Given the description of an element on the screen output the (x, y) to click on. 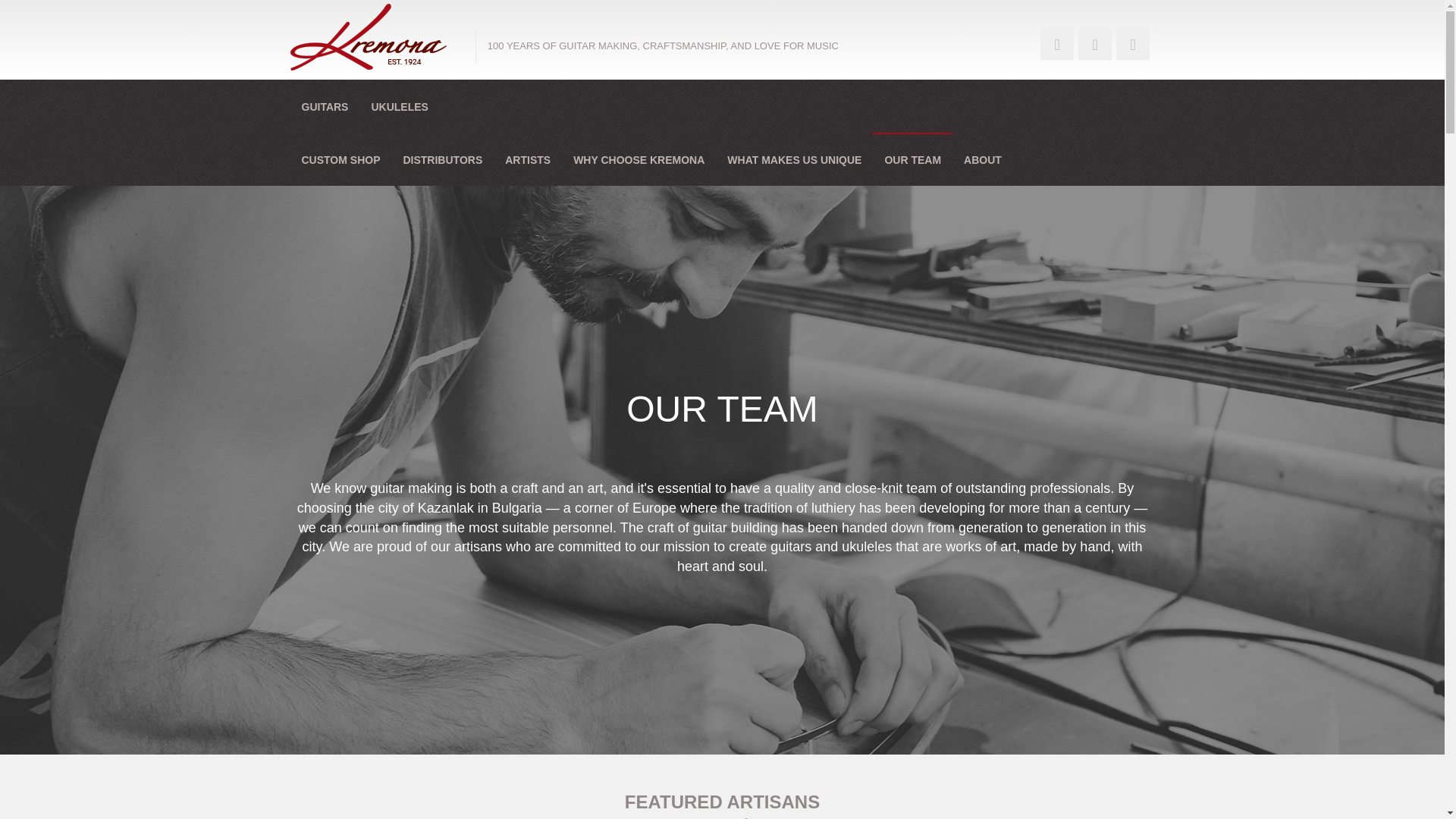
Youtube (1133, 42)
Instagram (1095, 42)
GUITARS (324, 105)
Facebook (1057, 42)
